Given the description of an element on the screen output the (x, y) to click on. 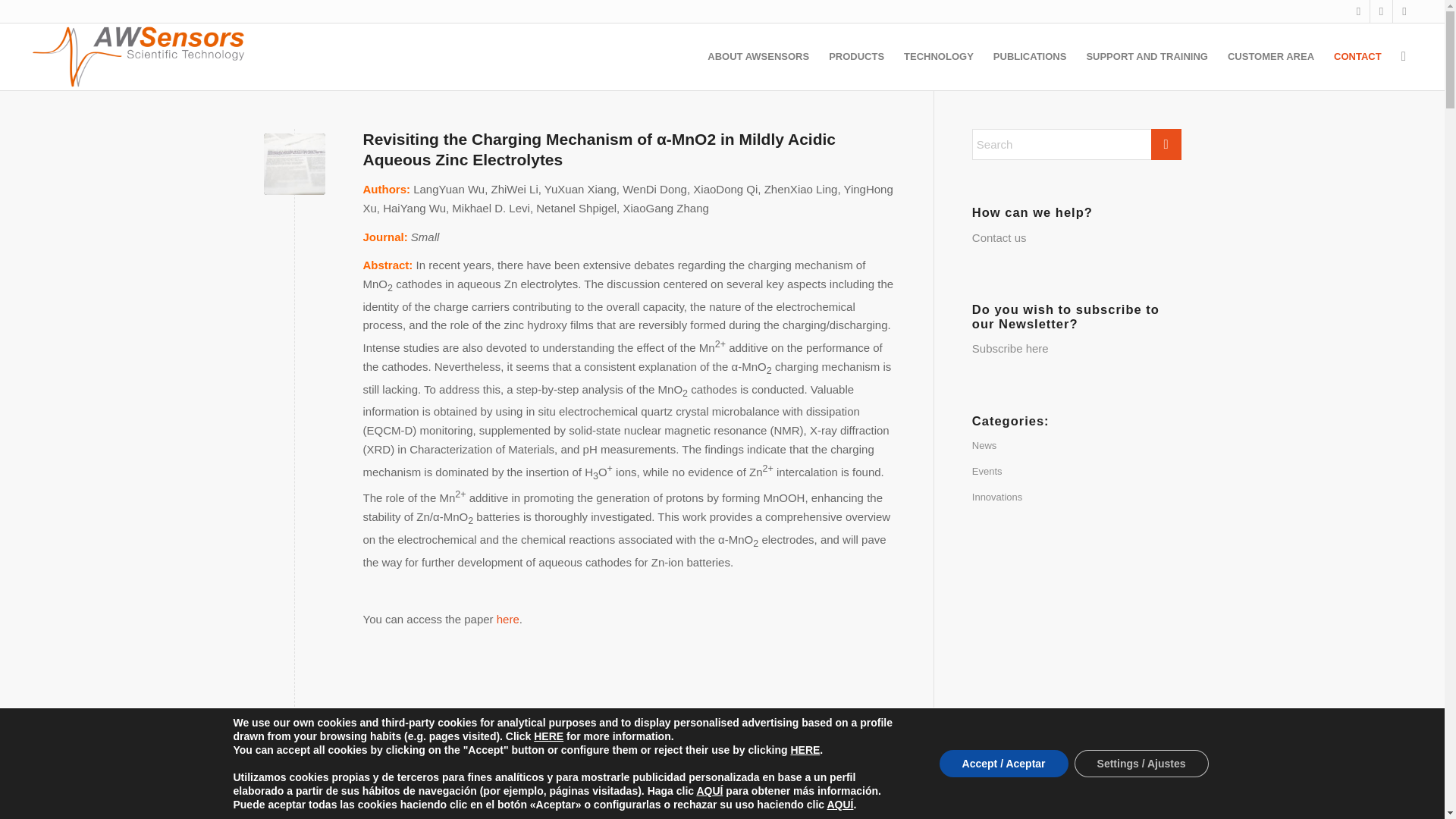
CONTACT (1357, 56)
X (1380, 11)
here (507, 618)
AWS Biosensors technology (139, 56)
LinkedIn (1359, 11)
Scientific Publication (293, 163)
ABOUT AWSENSORS (757, 56)
Youtube (1404, 11)
PRODUCTS (855, 56)
CUSTOMER AREA (1270, 56)
Scientific Publication (293, 749)
PUBLICATIONS (1030, 56)
TECHNOLOGY (938, 56)
